Given the description of an element on the screen output the (x, y) to click on. 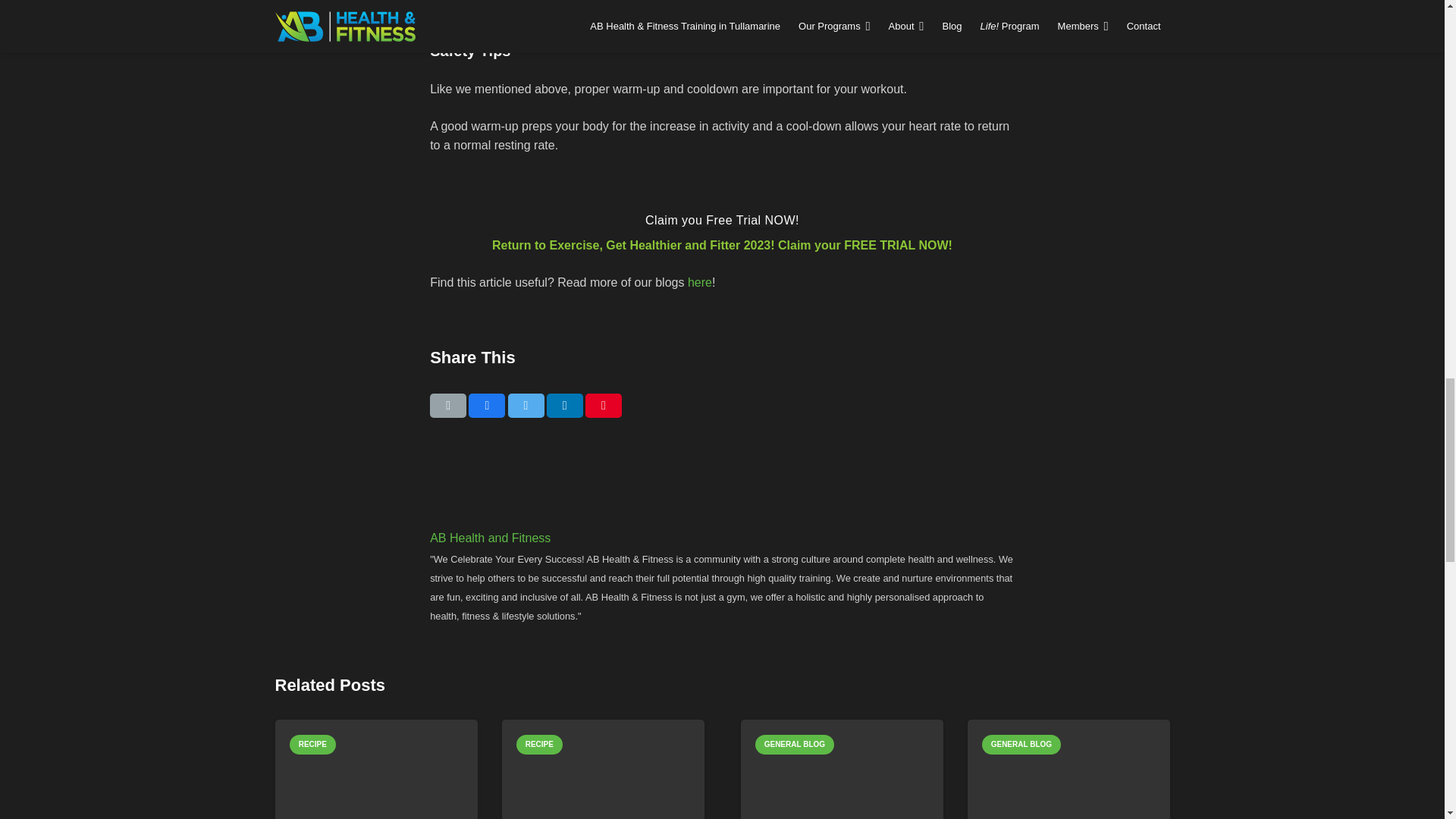
RECIPE (539, 744)
Claim you Free Trial NOW! (722, 219)
Tweet this (526, 405)
Share this (565, 405)
Email this (447, 405)
here (699, 282)
RECIPE (312, 744)
AB Health and Fitness (721, 537)
Share this (486, 405)
Pin this (603, 405)
